Given the description of an element on the screen output the (x, y) to click on. 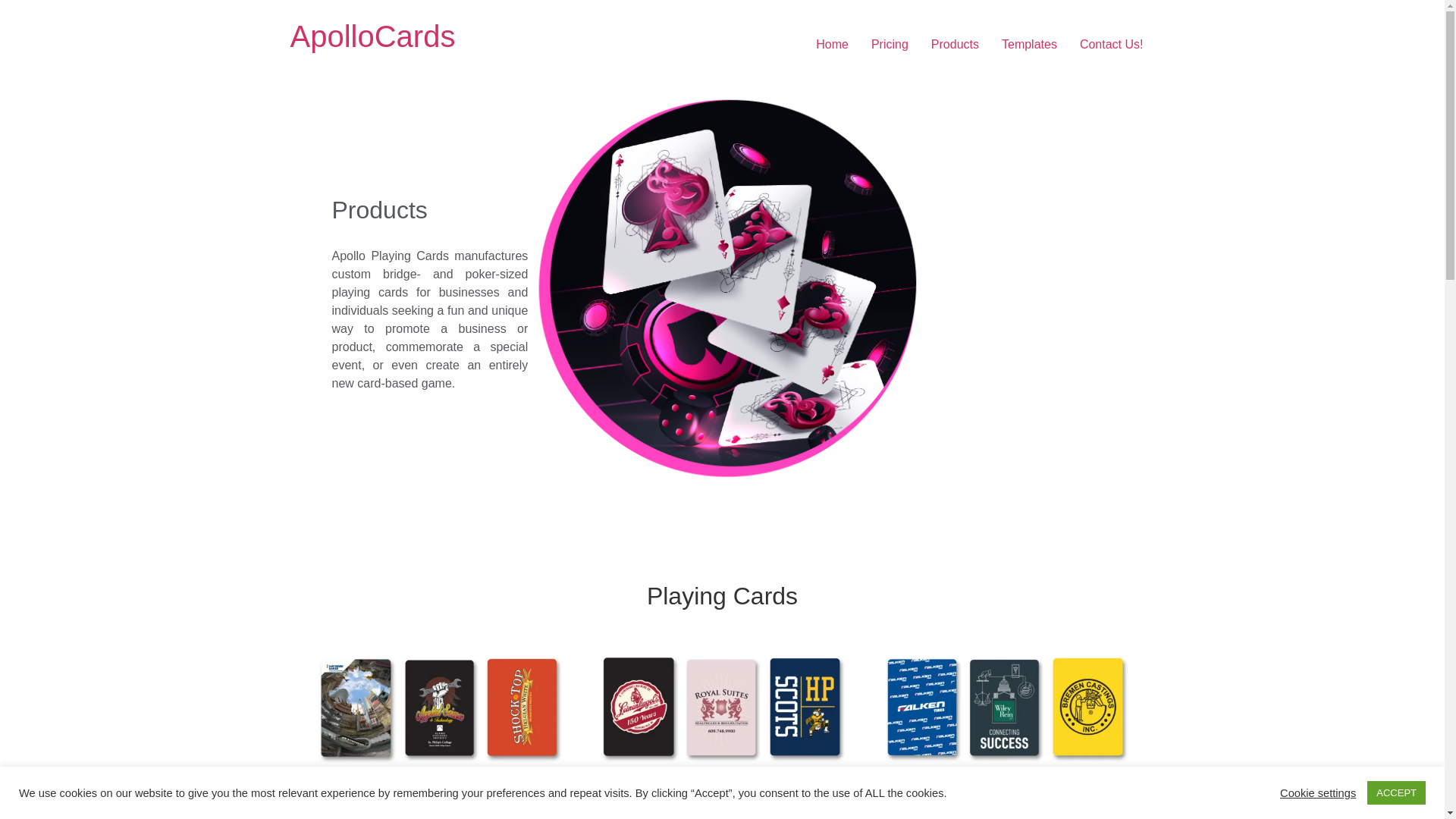
Contact Us! (1111, 44)
Pricing (890, 44)
Home (371, 36)
Home (832, 44)
Products (955, 44)
Templates (1029, 44)
ACCEPT (1396, 792)
Cookie settings (1317, 792)
ApolloCards (371, 36)
